Given the description of an element on the screen output the (x, y) to click on. 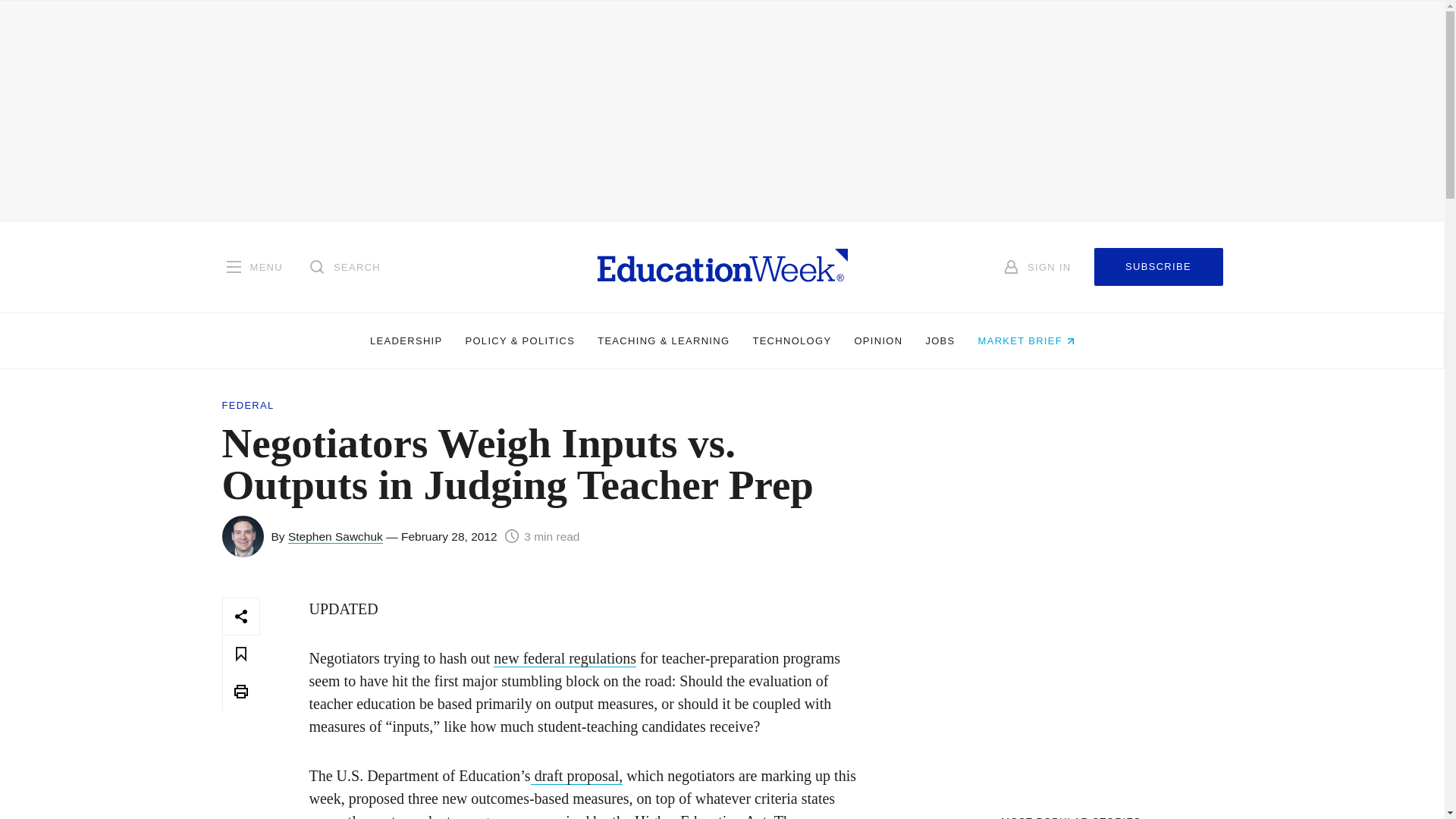
Homepage (721, 266)
3rd party ad content (1070, 692)
